Given the description of an element on the screen output the (x, y) to click on. 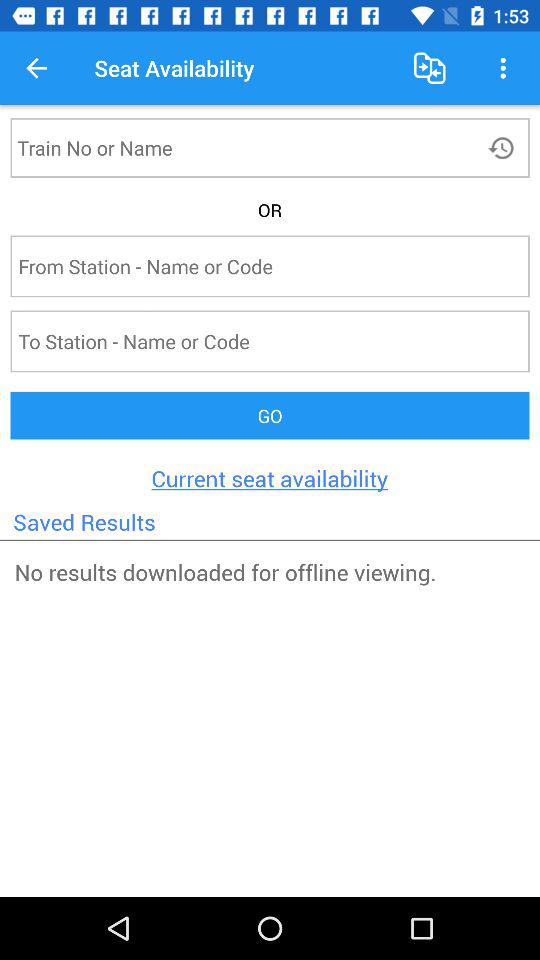
enter your name (233, 147)
